Given the description of an element on the screen output the (x, y) to click on. 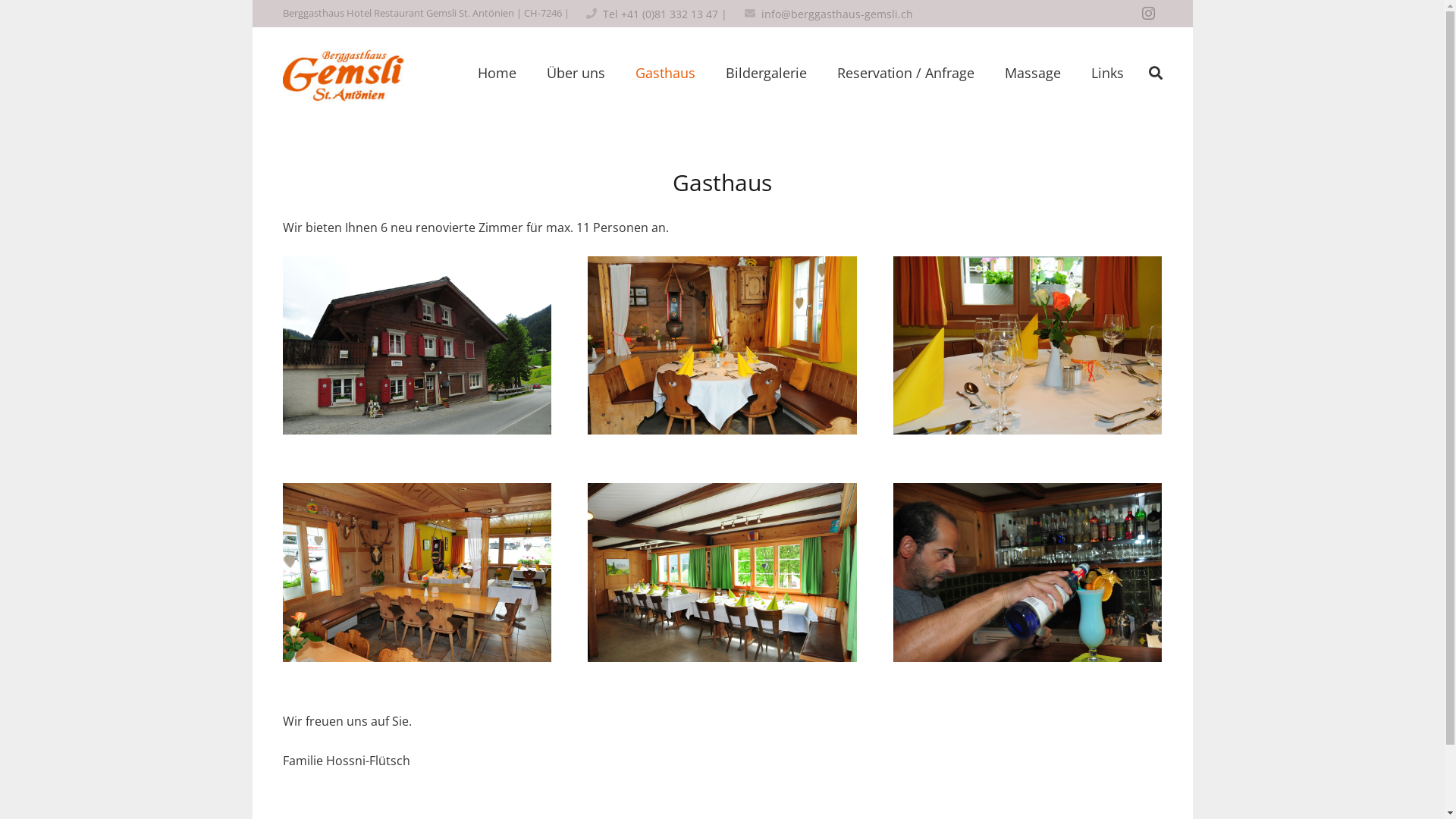
Home Element type: text (496, 72)
Instagram Element type: hover (1147, 13)
Reservation / Anfrage Element type: text (905, 72)
Bildergalerie Element type: text (766, 72)
Links Element type: text (1107, 72)
Suchen Element type: hover (1155, 73)
Gasthaus Element type: text (665, 72)
info@berggasthaus-gemsli.ch Element type: text (837, 13)
Massage Element type: text (1032, 72)
